Given the description of an element on the screen output the (x, y) to click on. 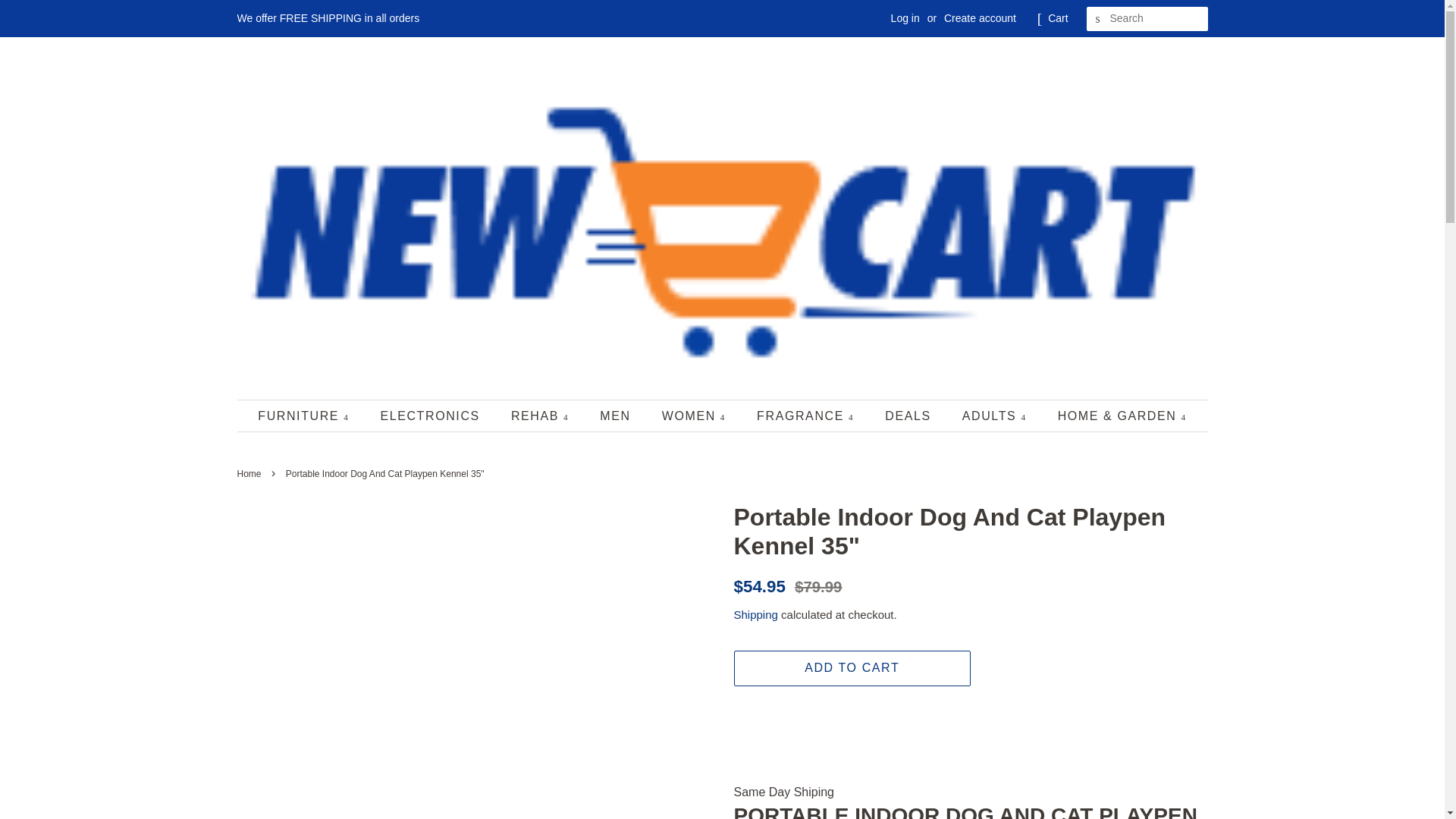
Create account (979, 18)
Log in (905, 18)
Cart (1057, 18)
SEARCH (1097, 18)
Back to the frontpage (249, 473)
